Given the description of an element on the screen output the (x, y) to click on. 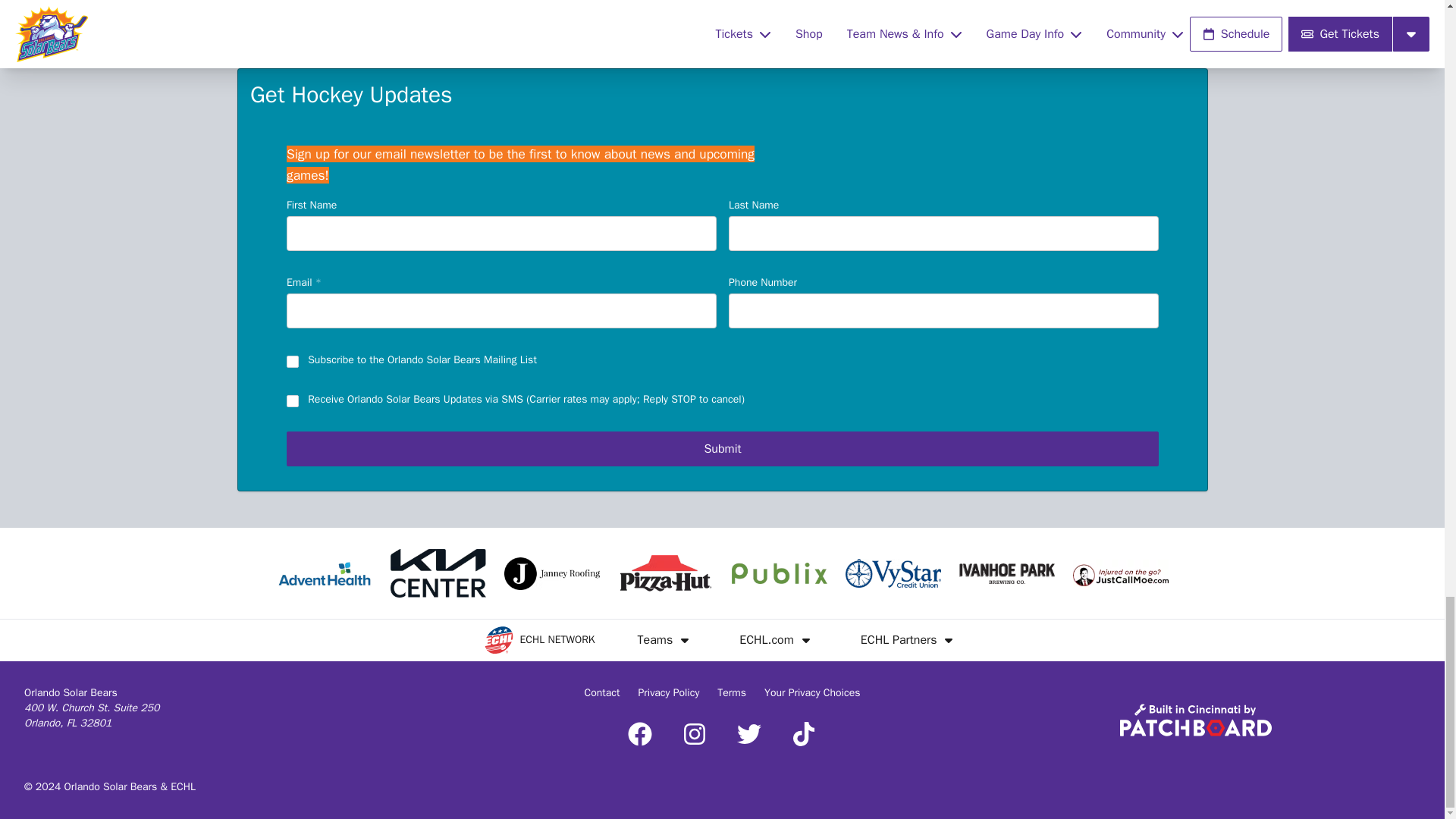
on (292, 361)
Instagram (694, 733)
on (292, 400)
TikTok (804, 733)
Built in Cincinnati by Patchboard (1195, 719)
Facebook (639, 733)
Twitter (749, 733)
